Given the description of an element on the screen output the (x, y) to click on. 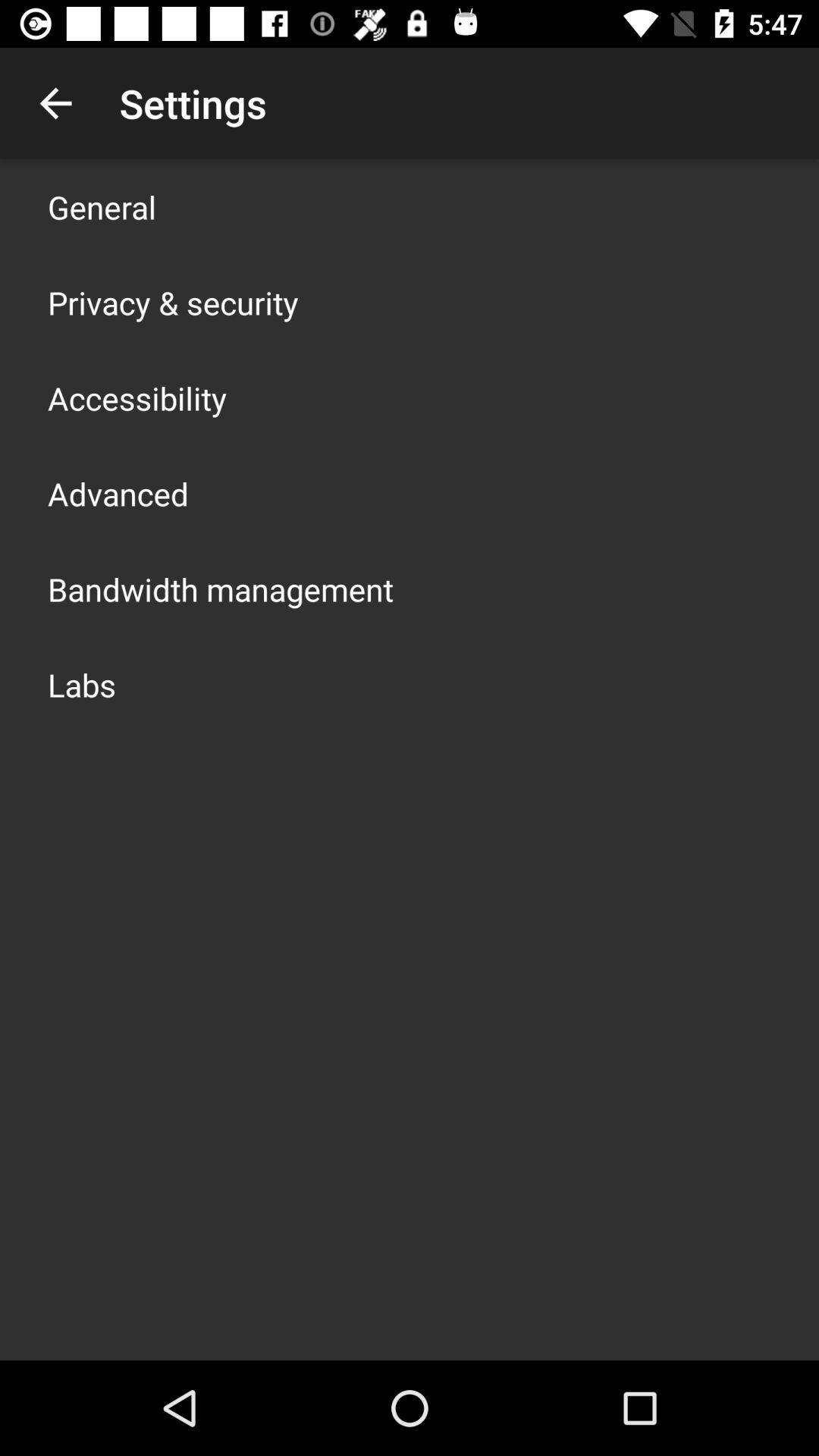
swipe until advanced app (117, 493)
